Given the description of an element on the screen output the (x, y) to click on. 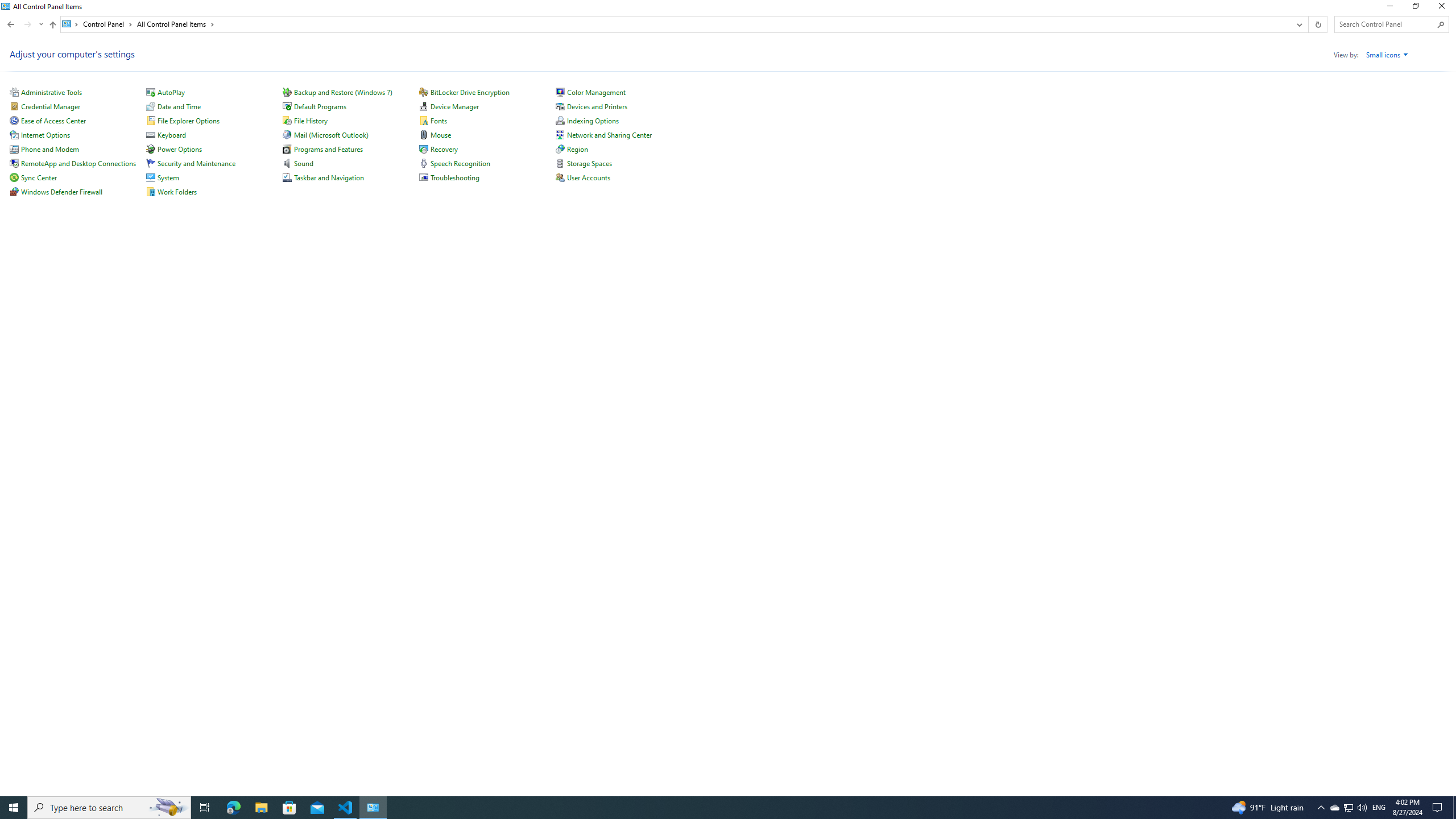
Recovery (443, 148)
System (6, 6)
System (167, 177)
Mouse (440, 135)
Back to Control Panel (Alt + Left Arrow) (10, 23)
Navigation buttons (24, 23)
Control Panel (107, 23)
Internet Options (45, 135)
Ease of Access Center (53, 120)
Sync Center (39, 177)
BitLocker Drive Encryption (470, 92)
Backup and Restore (Windows 7) (342, 92)
